Given the description of an element on the screen output the (x, y) to click on. 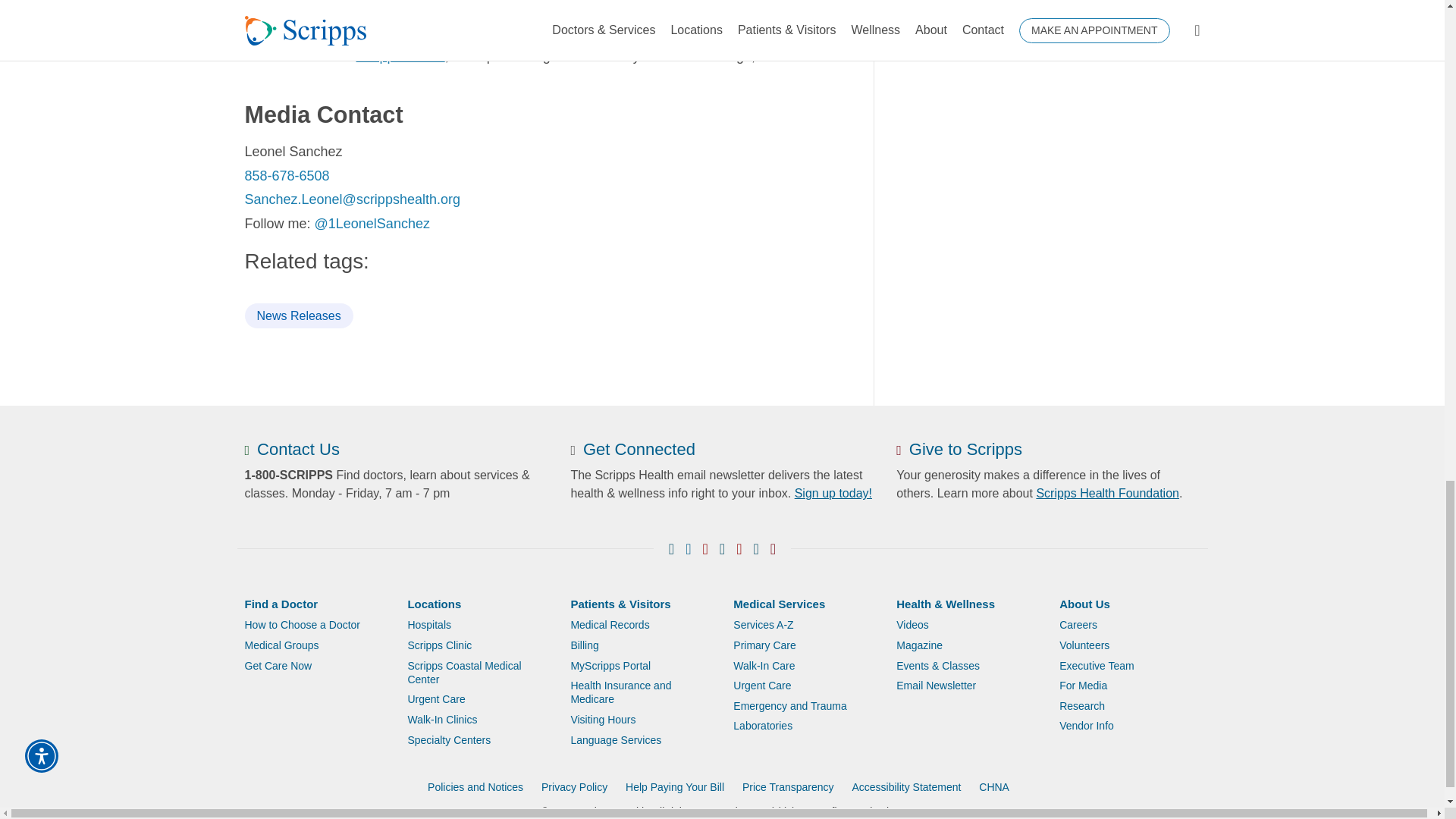
858-678-6508 (286, 175)
1-800-SCRIPPS (288, 474)
